Given the description of an element on the screen output the (x, y) to click on. 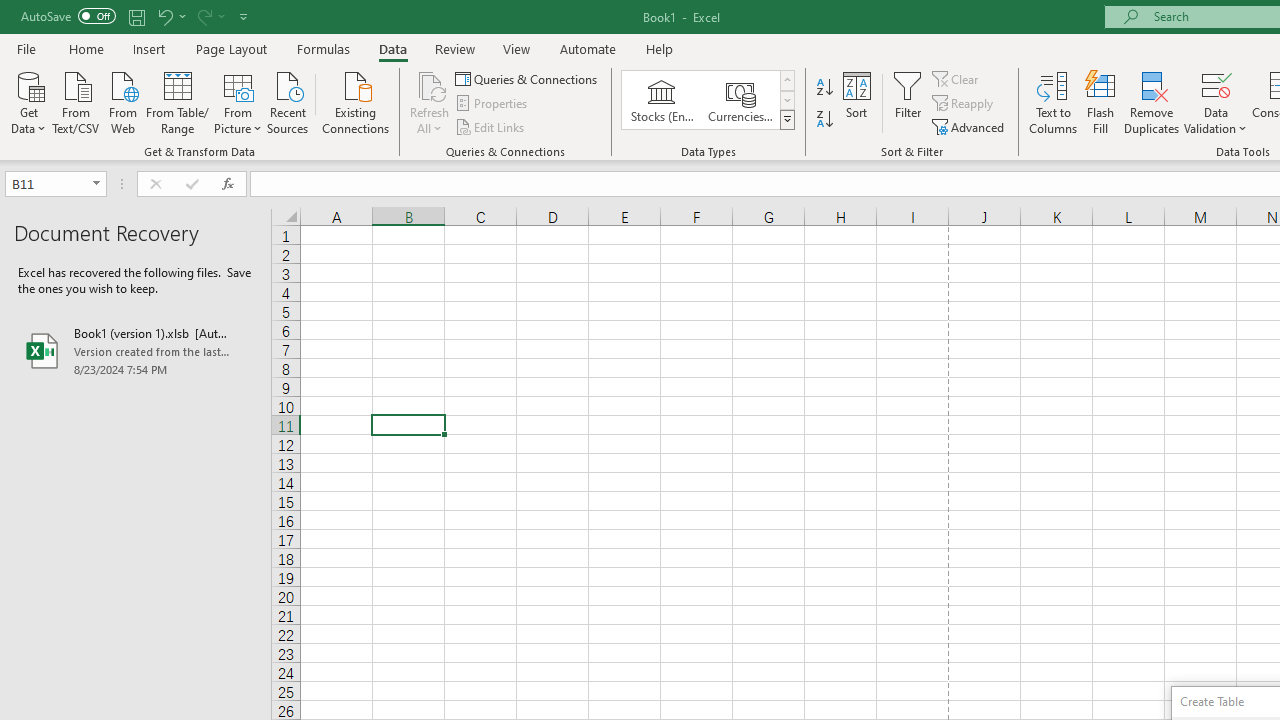
View (517, 48)
Text to Columns... (1053, 102)
Properties (492, 103)
Customize Quick Access Toolbar (244, 15)
Edit Links (491, 126)
Reapply (964, 103)
Sort A to Z (824, 87)
Quick Access Toolbar (136, 16)
Formulas (323, 48)
Sort Z to A (824, 119)
Open (96, 183)
